Given the description of an element on the screen output the (x, y) to click on. 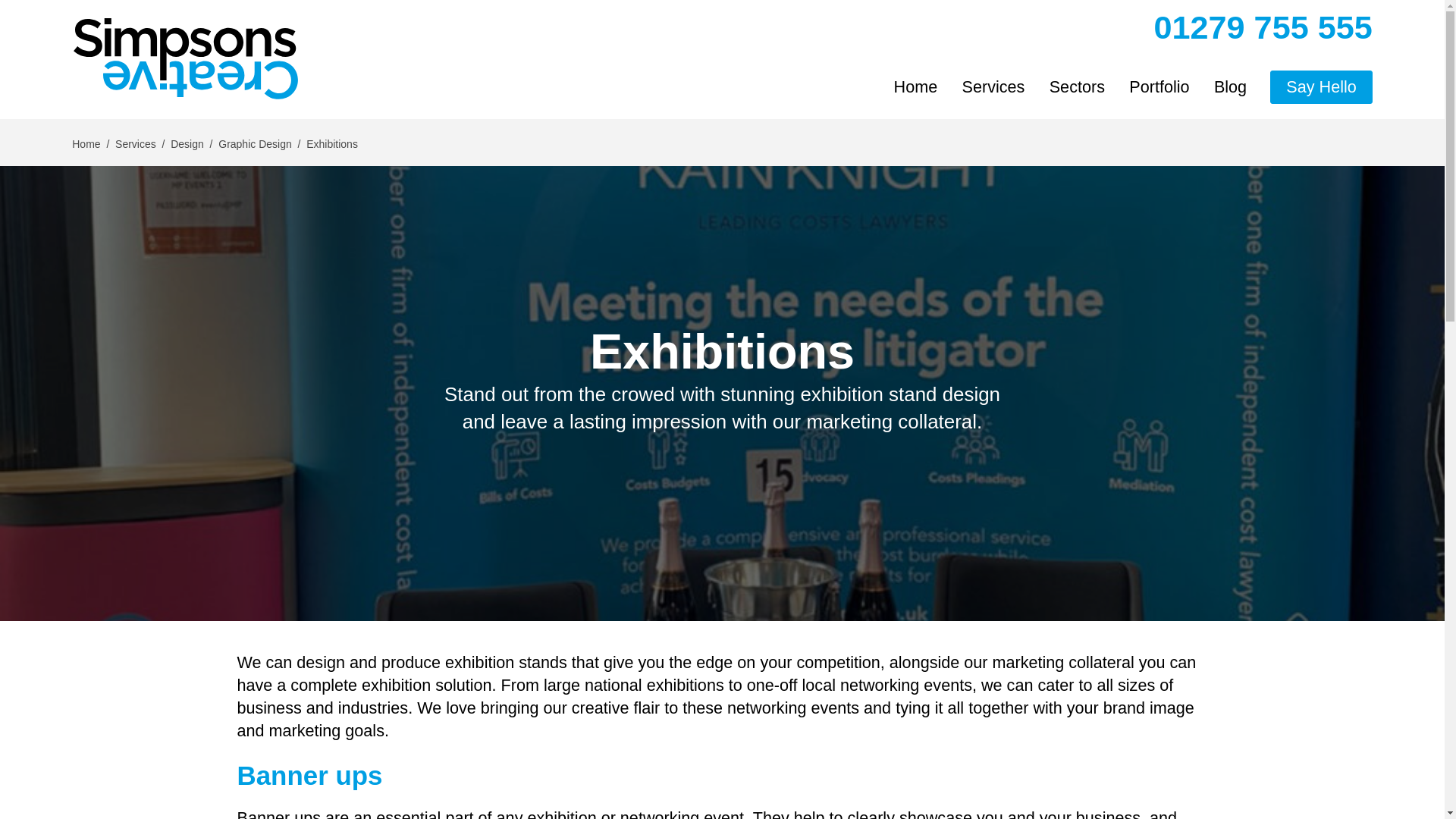
Say Hello (1320, 87)
Blog (1230, 86)
Home (914, 86)
Portfolio (1159, 86)
Simpsons Creative (185, 59)
Services (992, 86)
01279 755 555 (1263, 27)
Sectors (1077, 86)
